Given the description of an element on the screen output the (x, y) to click on. 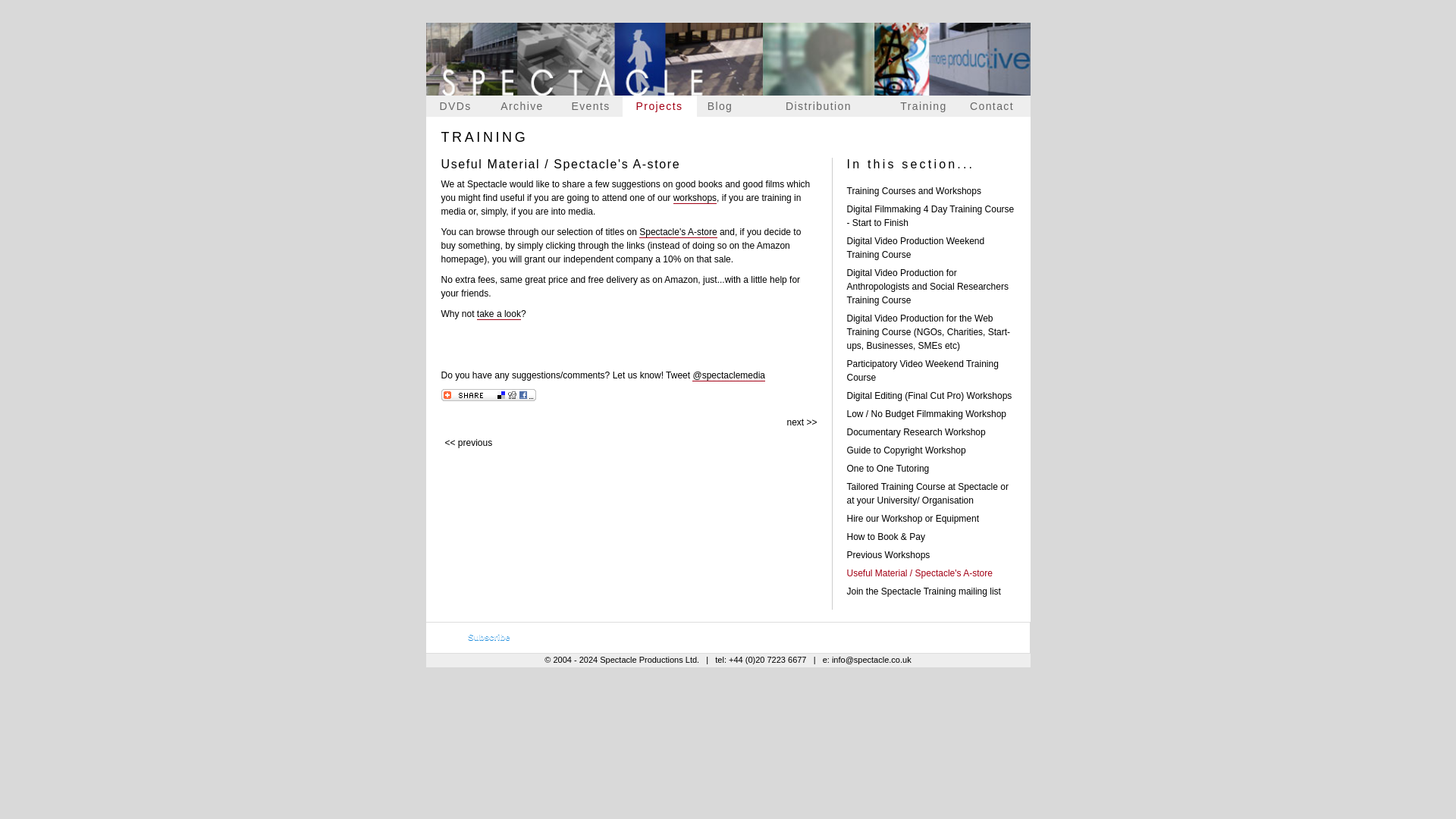
Digital Filmmaking 4 Day Training Course - Start to Finish (929, 215)
Training (923, 106)
page in this section (794, 421)
Guide to Copyright Workshop (905, 450)
Digital Video Production Weekend Training Course (914, 247)
Participatory Video Weekend Training Course (921, 370)
workshops (694, 197)
Preview (480, 637)
Contact (991, 106)
take a look (499, 314)
Training Courses and Workshops (912, 190)
Blog (718, 106)
Hire our Workshop or Equipment (911, 518)
Documentary Research Workshop (915, 431)
